Given the description of an element on the screen output the (x, y) to click on. 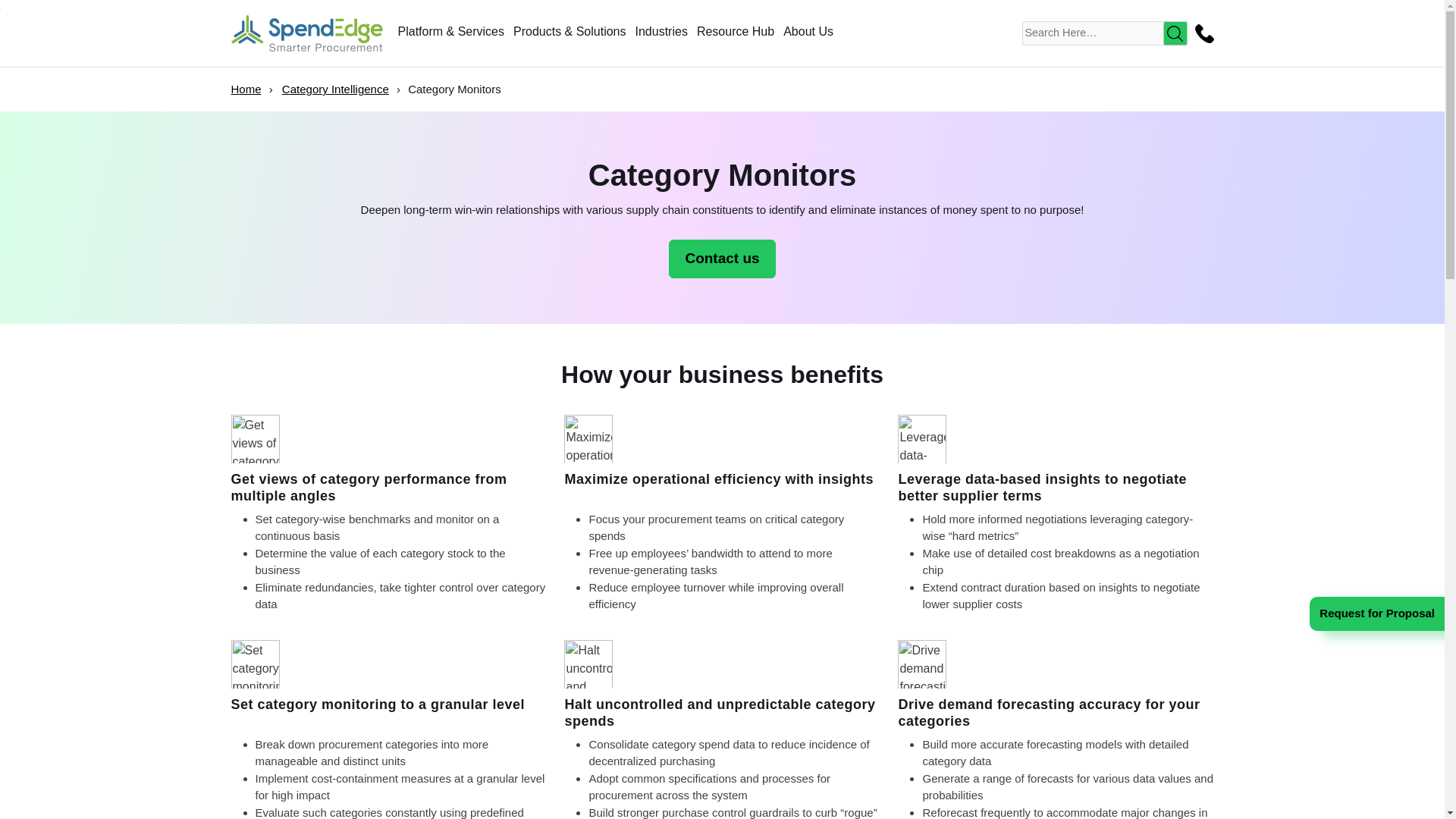
Halt uncontrolled and unpredictable category spends (588, 663)
Search (1175, 33)
Get views of category performance from multiple angles (254, 438)
Contact Us (1201, 32)
Set category monitoring to a granular level (254, 663)
Search (1175, 33)
Maximize operational efficiency with insights (588, 438)
Drive demand forecasting accuracy for your categories (922, 663)
